Given the description of an element on the screen output the (x, y) to click on. 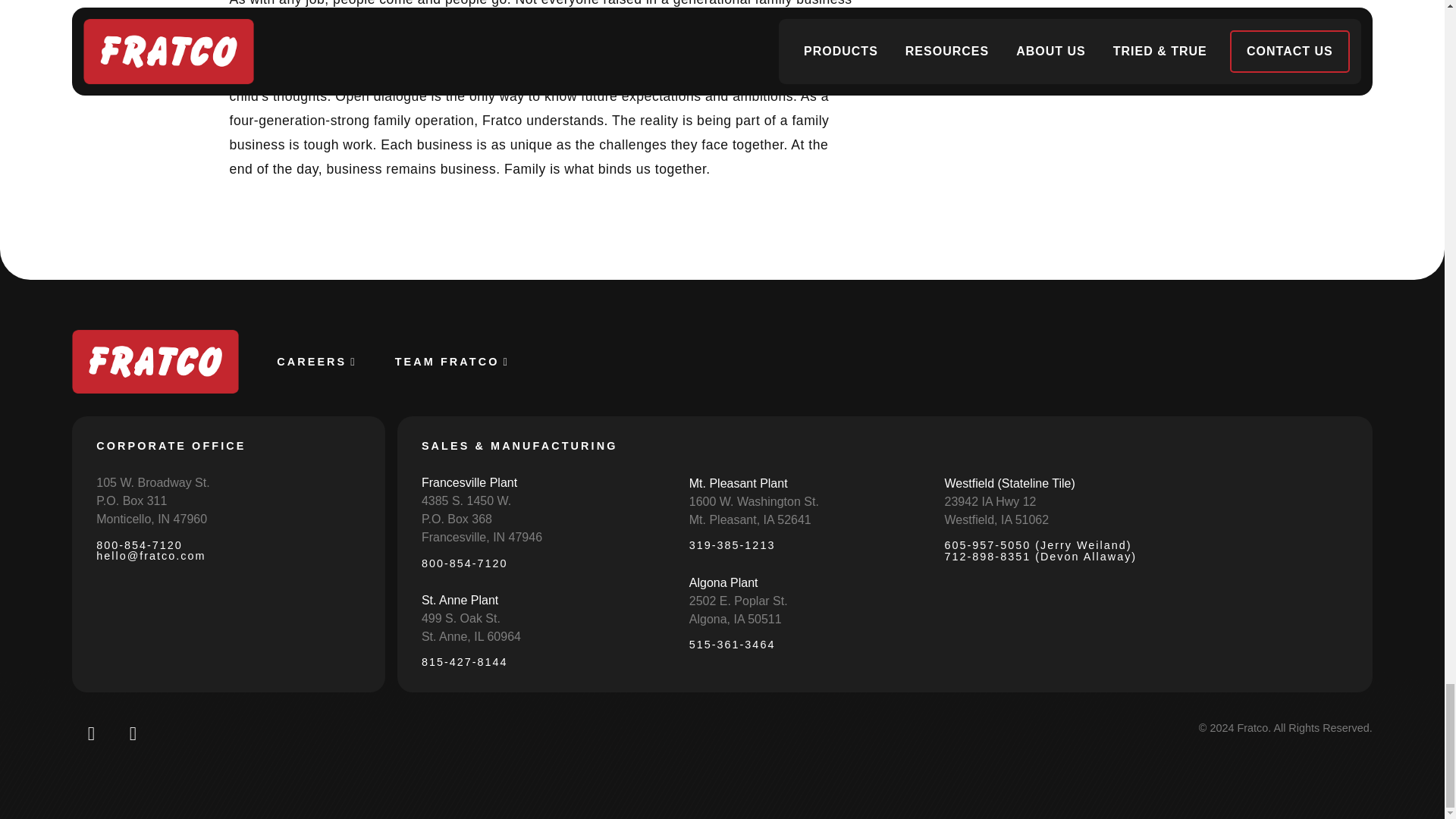
Fratco Logo (154, 361)
